Given the description of an element on the screen output the (x, y) to click on. 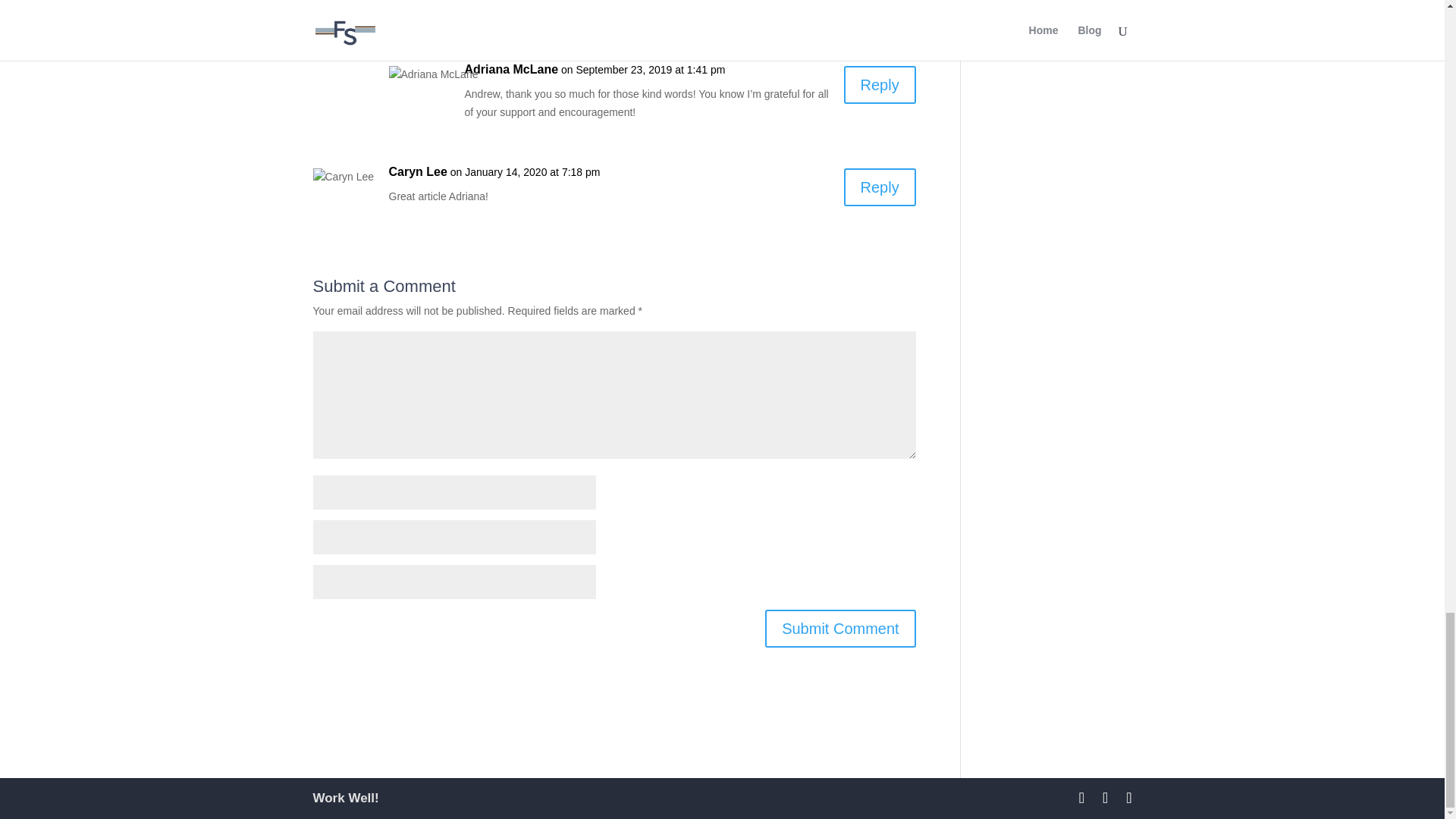
Reply (879, 85)
Submit Comment (840, 628)
Submit Comment (840, 628)
Reply (879, 187)
Reply (879, 0)
